Given the description of an element on the screen output the (x, y) to click on. 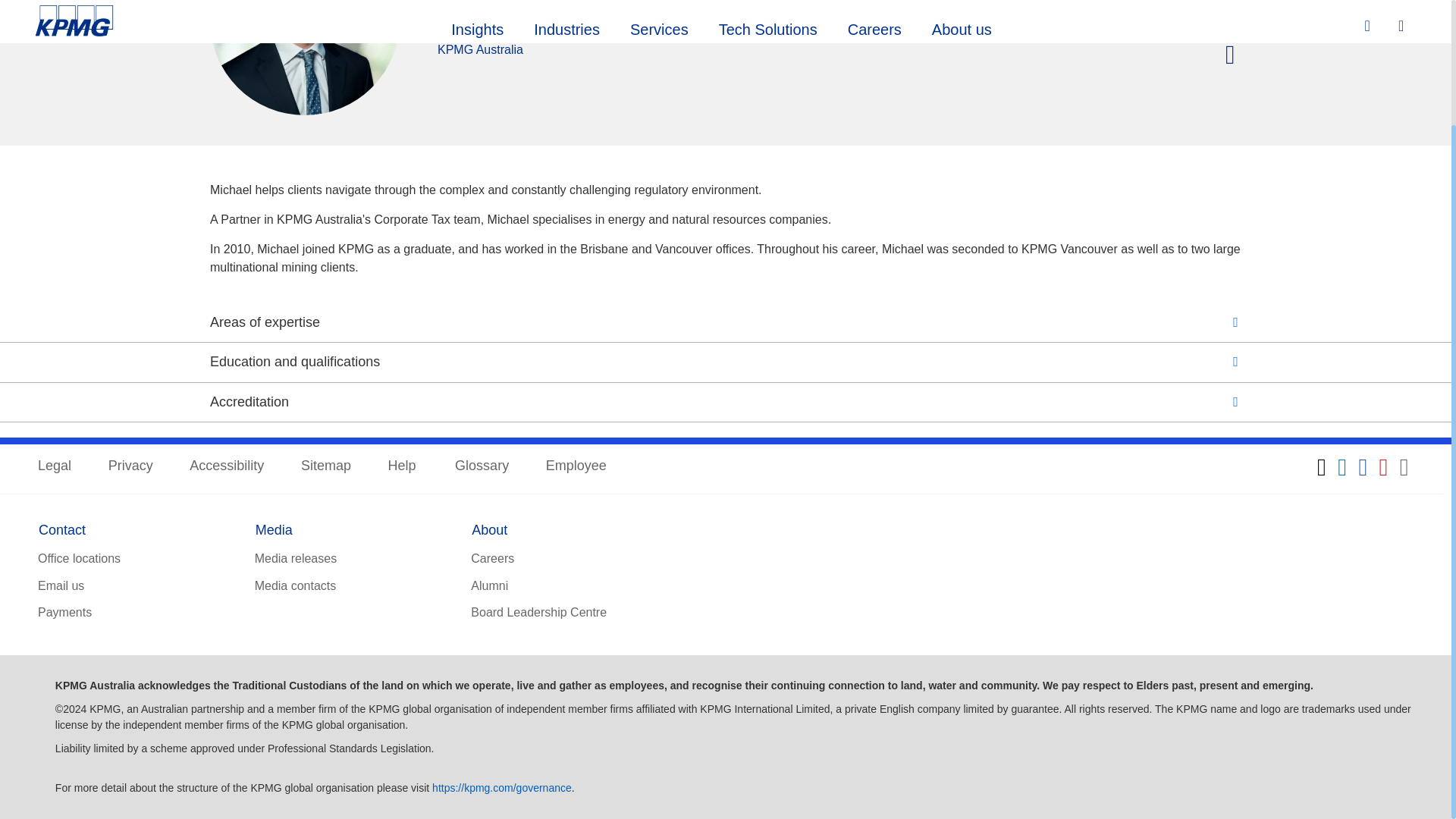
Education and qualifications (725, 361)
Glossary (481, 466)
Legal (54, 466)
Employee (576, 466)
Sitemap (325, 466)
Phone number Michael Baartz (1233, 20)
Accessibility (226, 466)
Help (403, 466)
Areas of expertise (725, 322)
Privacy (129, 466)
Accreditation (725, 401)
Contact Michael Baartz (1233, 56)
